Given the description of an element on the screen output the (x, y) to click on. 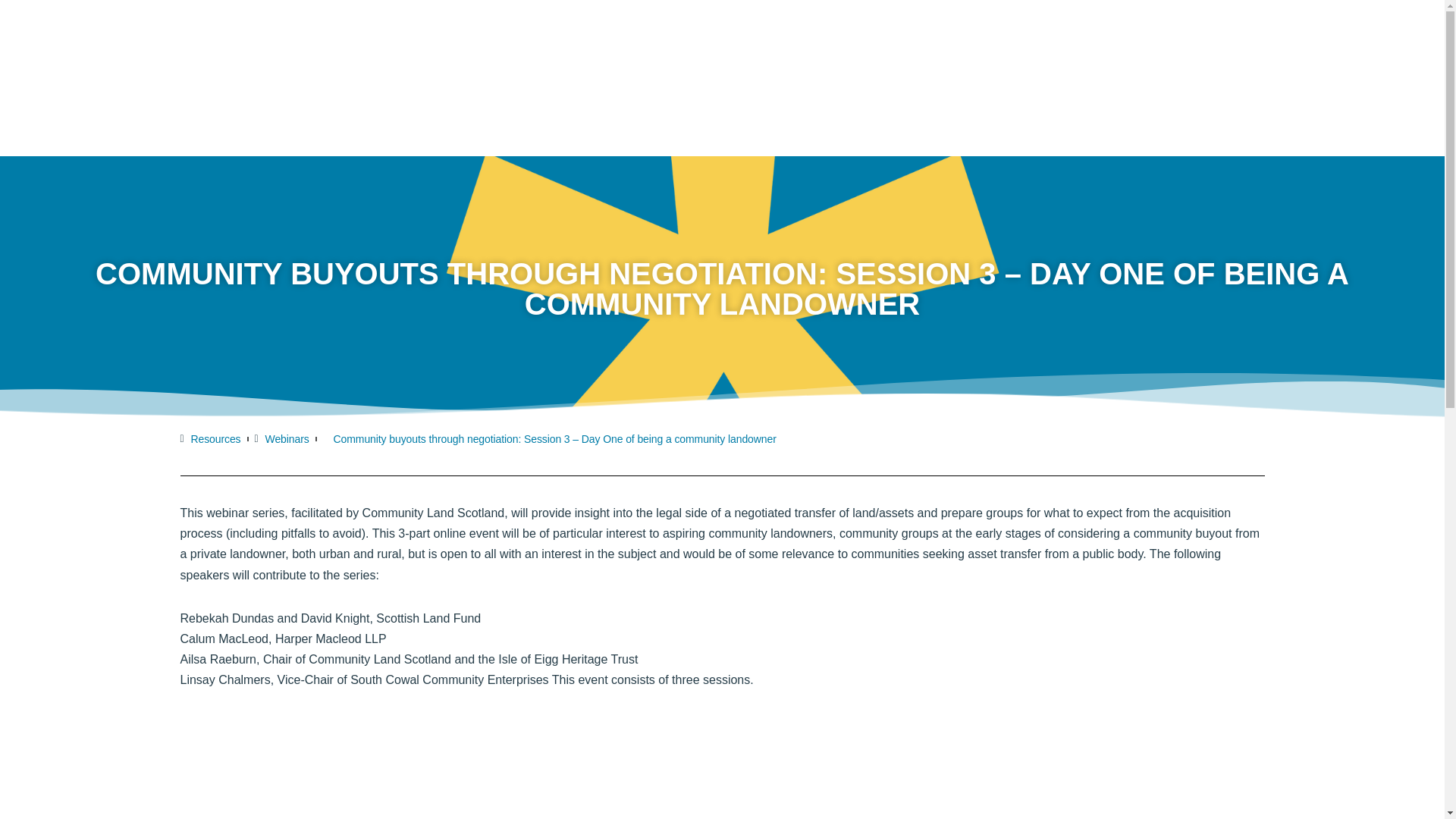
Skip to content (11, 31)
Resources (210, 438)
